Given the description of an element on the screen output the (x, y) to click on. 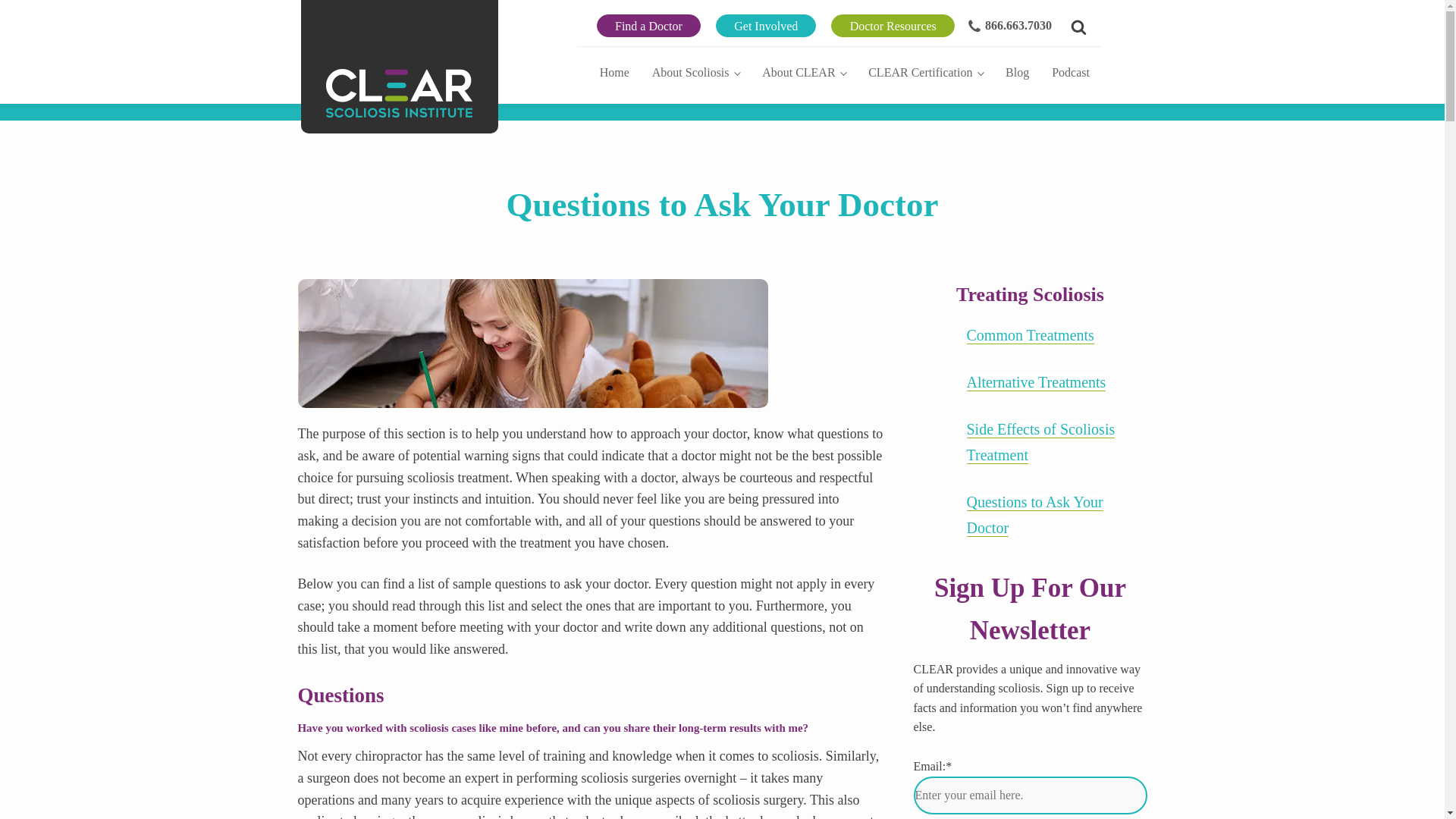
About Scoliosis (695, 71)
Find a Doctor (648, 25)
866.663.7030 (1006, 25)
Get Involved (765, 25)
Home (614, 71)
Doctor Resources (893, 25)
